Given the description of an element on the screen output the (x, y) to click on. 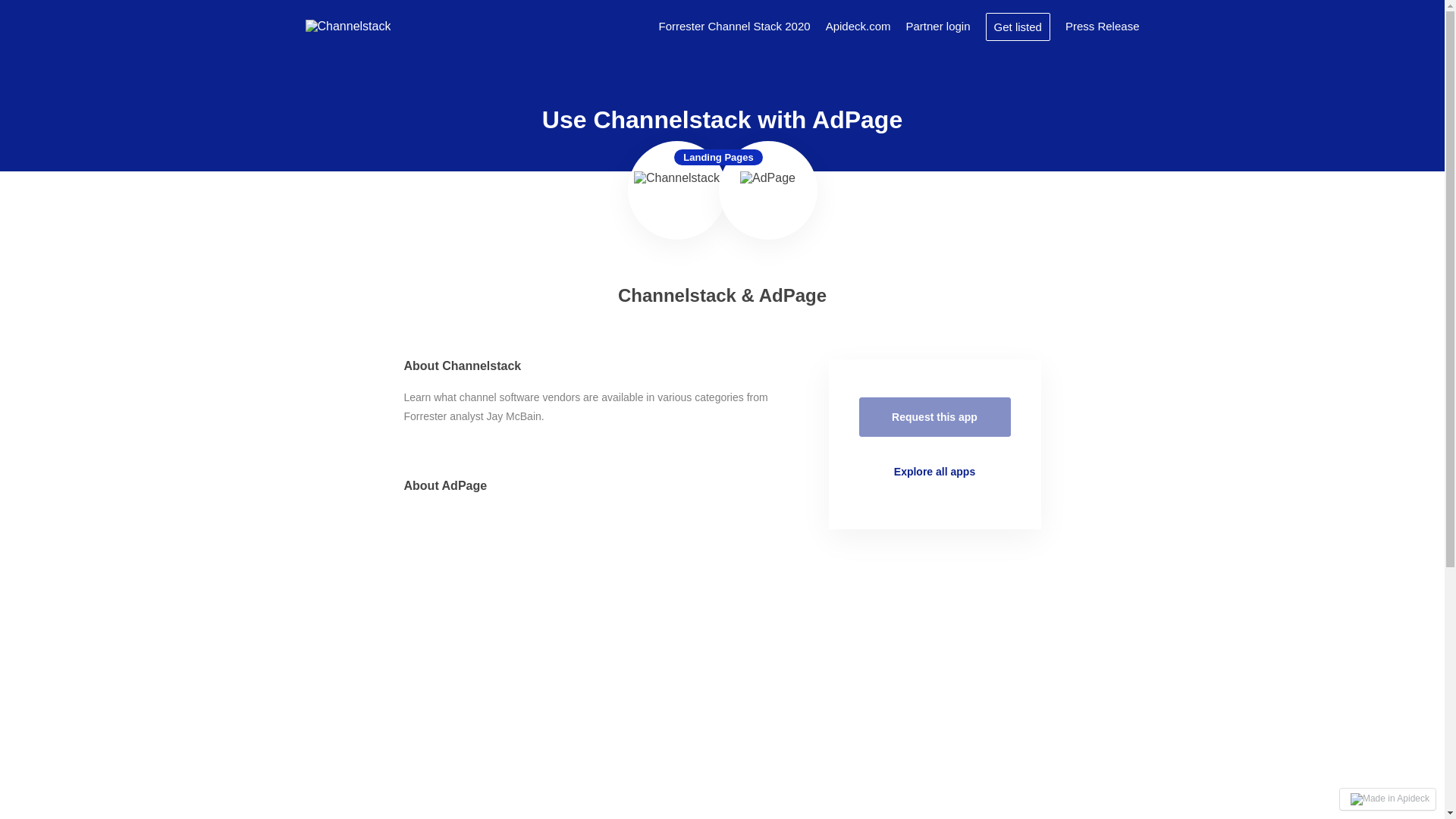
Apideck.com (858, 25)
AdPage (766, 190)
Partner login (937, 25)
Channelstack (347, 26)
Channelstack (676, 190)
Forrester Channel Stack 2020 (734, 25)
Request this app (934, 416)
Get listed (1017, 26)
Explore all apps (934, 471)
Press Release (1102, 25)
